Given the description of an element on the screen output the (x, y) to click on. 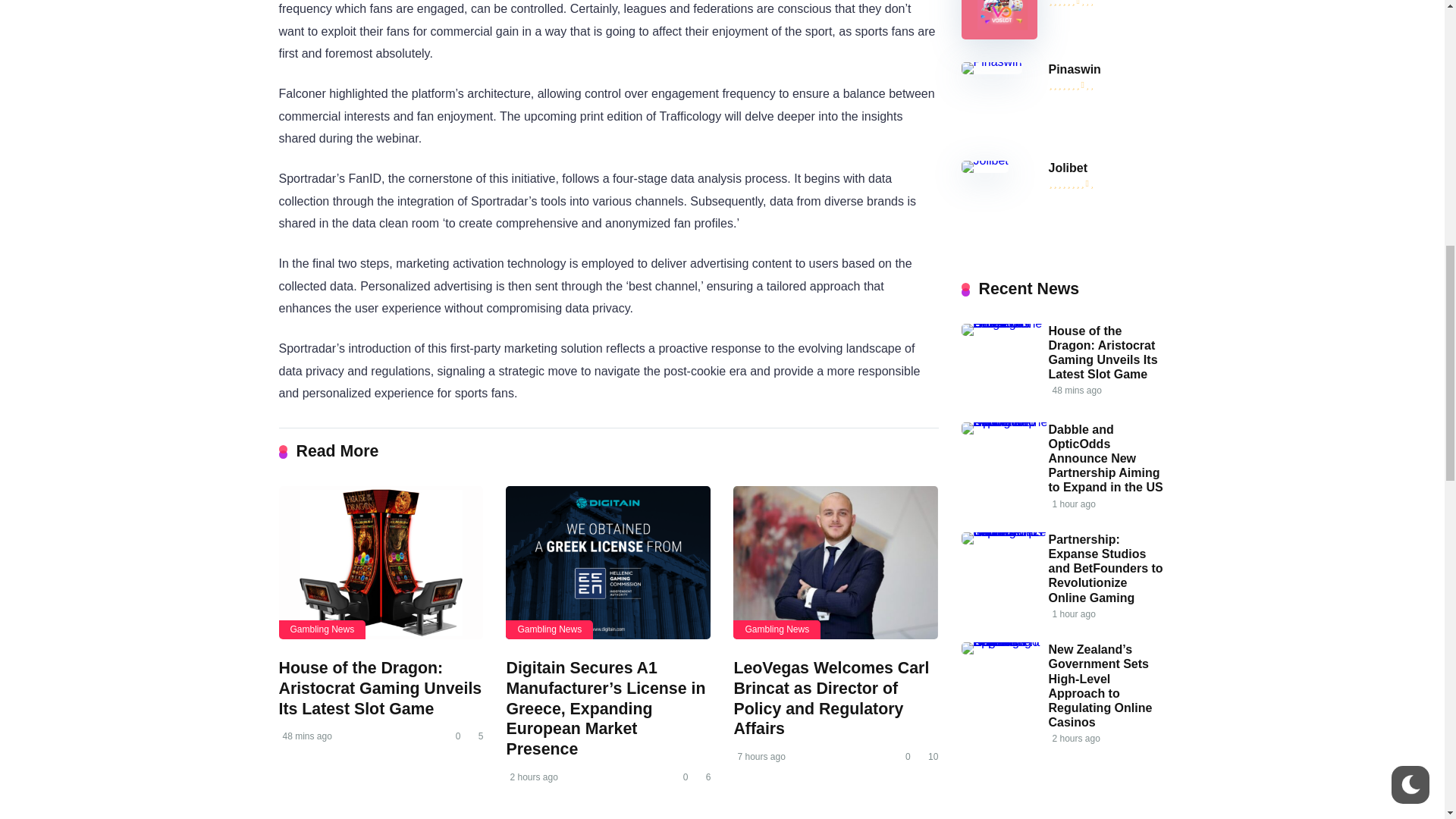
Gambling News (322, 629)
Gambling News (777, 629)
Voslot Online Casino (998, 34)
Jolibet (1067, 168)
Pinaswin (1074, 69)
Gambling News (548, 629)
